Given the description of an element on the screen output the (x, y) to click on. 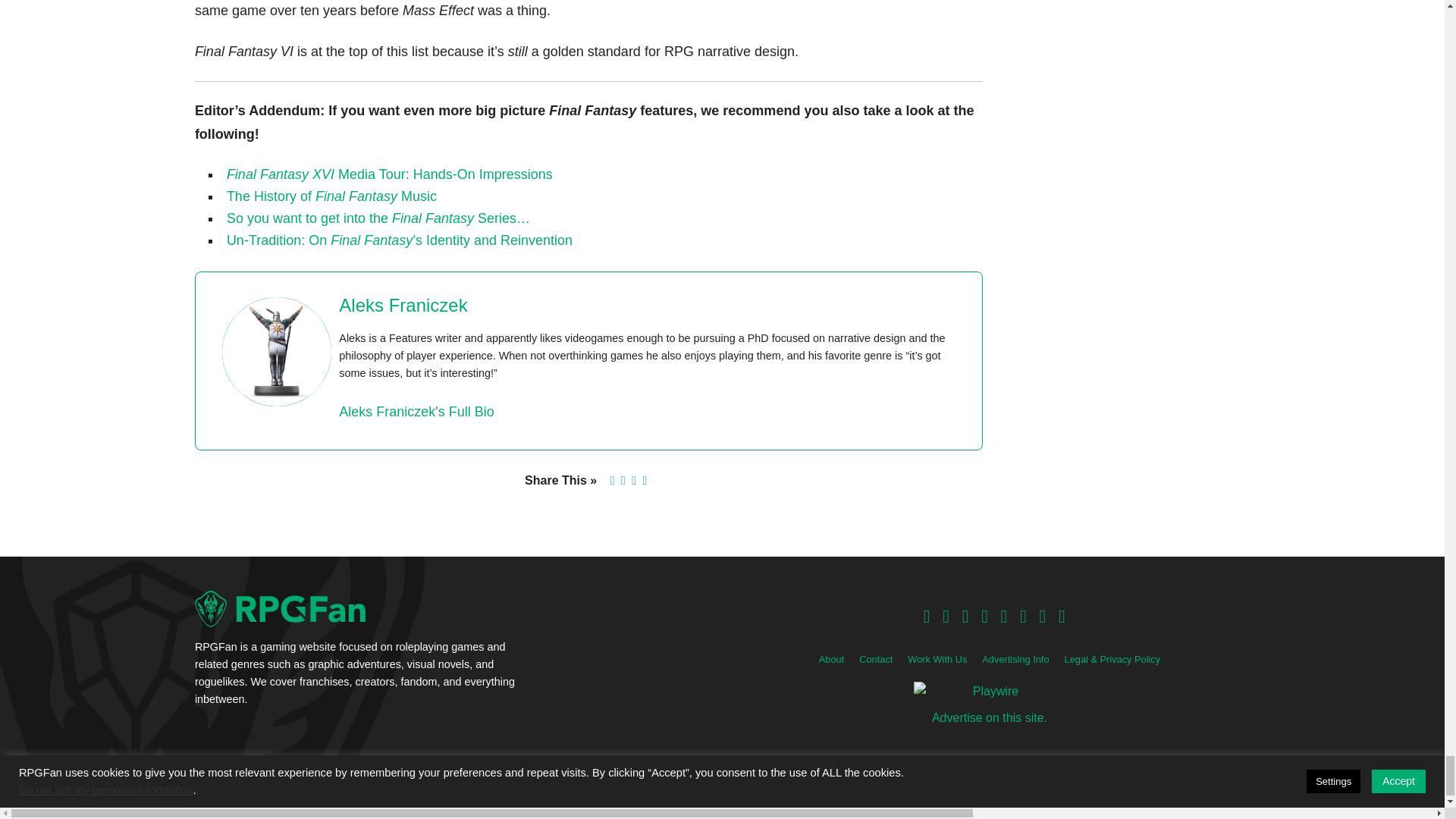
Valkyrie Studio (786, 787)
